Given the description of an element on the screen output the (x, y) to click on. 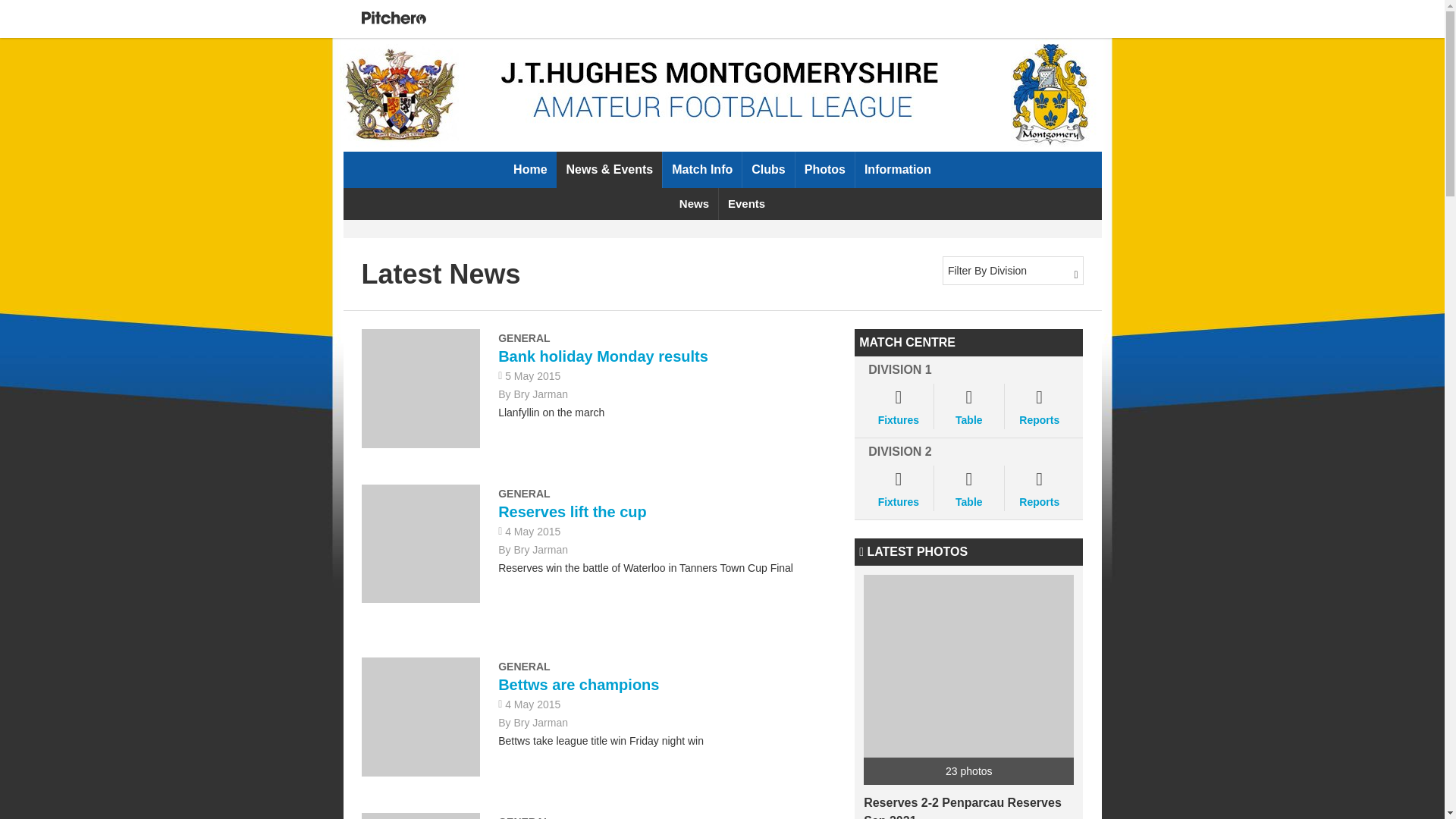
News (693, 204)
Clubs (767, 169)
Pitchero (393, 18)
Photos (824, 169)
Match Info (701, 169)
Reserves lift the cup (571, 511)
Home (529, 169)
Events (745, 204)
Bank holiday Monday results (602, 356)
Information (897, 169)
